Given the description of an element on the screen output the (x, y) to click on. 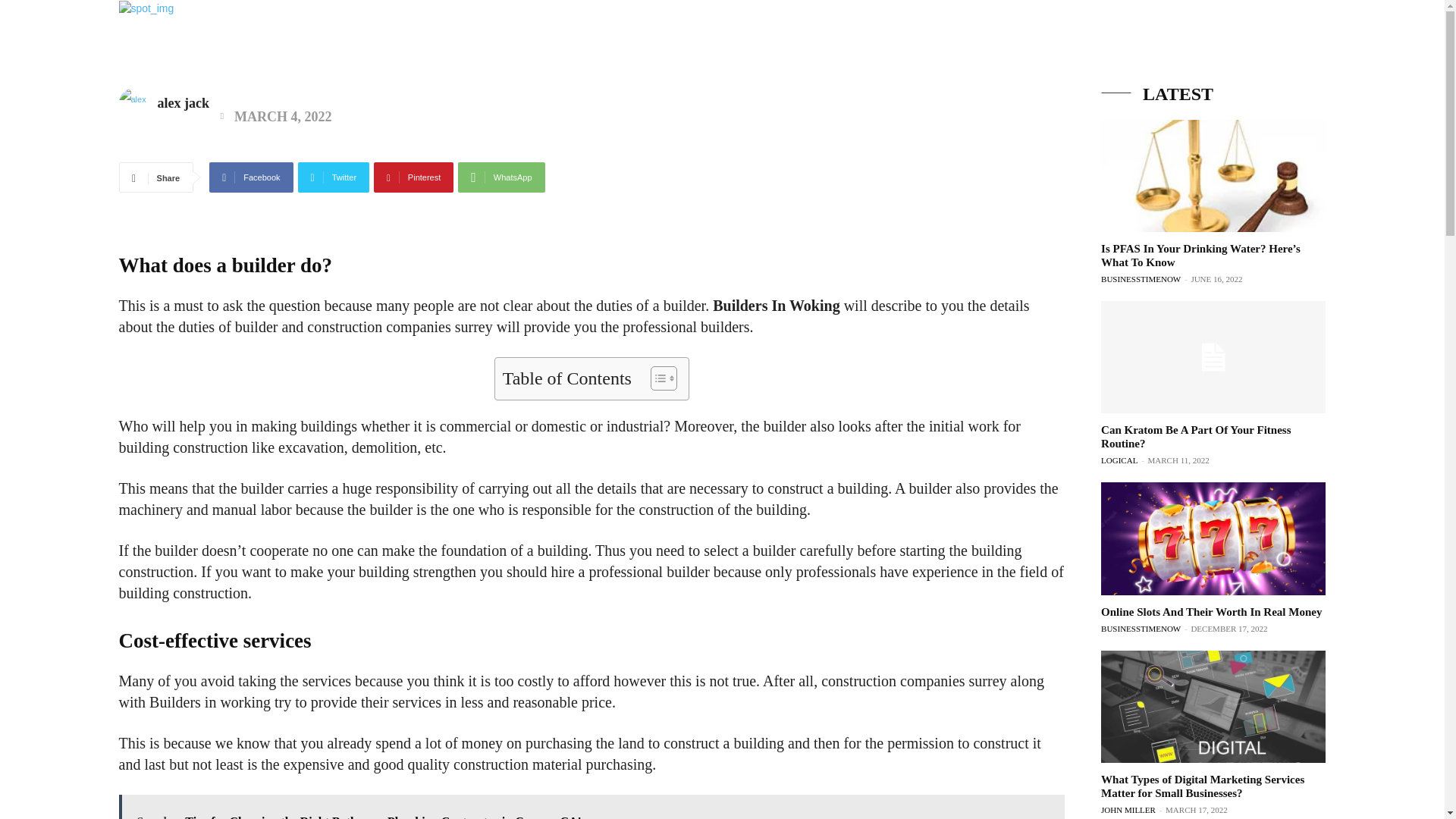
RSS (1408, 58)
Businesstimenow (107, 36)
Facebook (1353, 58)
Businesstimenow (107, 36)
Technology (973, 40)
Law (1175, 40)
Home Decor (1244, 40)
Lifestyle (1051, 40)
Business (715, 40)
General (1120, 40)
Entertainment (879, 40)
Linkedin (1380, 58)
Net worth (789, 40)
